Given the description of an element on the screen output the (x, y) to click on. 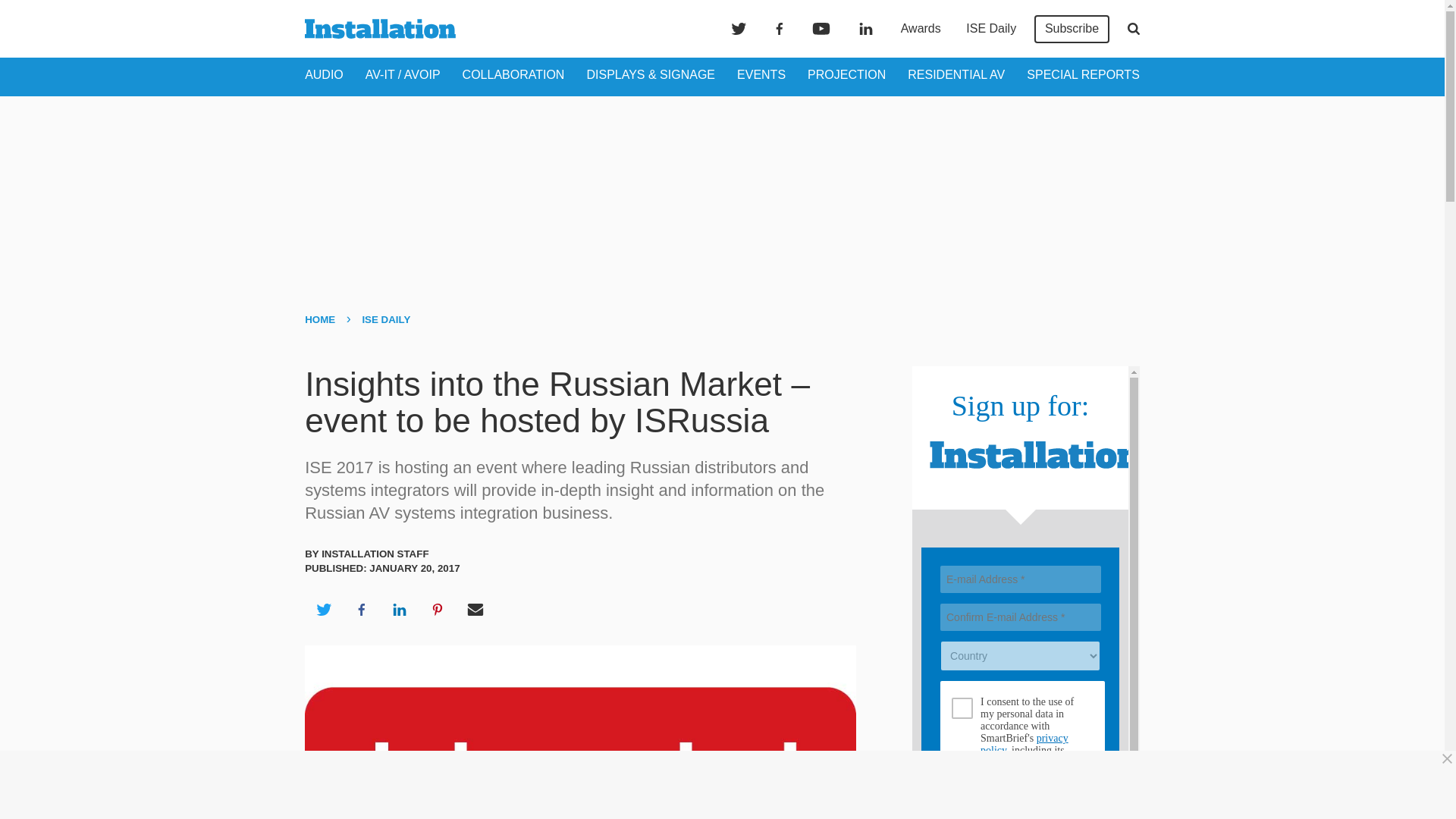
Awards (921, 29)
Subscribe (1071, 29)
Share on Pinterest (438, 609)
Share via Email (476, 609)
Share on Twitter (323, 609)
AUDIO (323, 74)
Installation Staff's Author Profile (374, 553)
Share on LinkedIn (399, 609)
ISE Daily (990, 29)
COLLABORATION (513, 74)
Share on Facebook (361, 609)
